Given the description of an element on the screen output the (x, y) to click on. 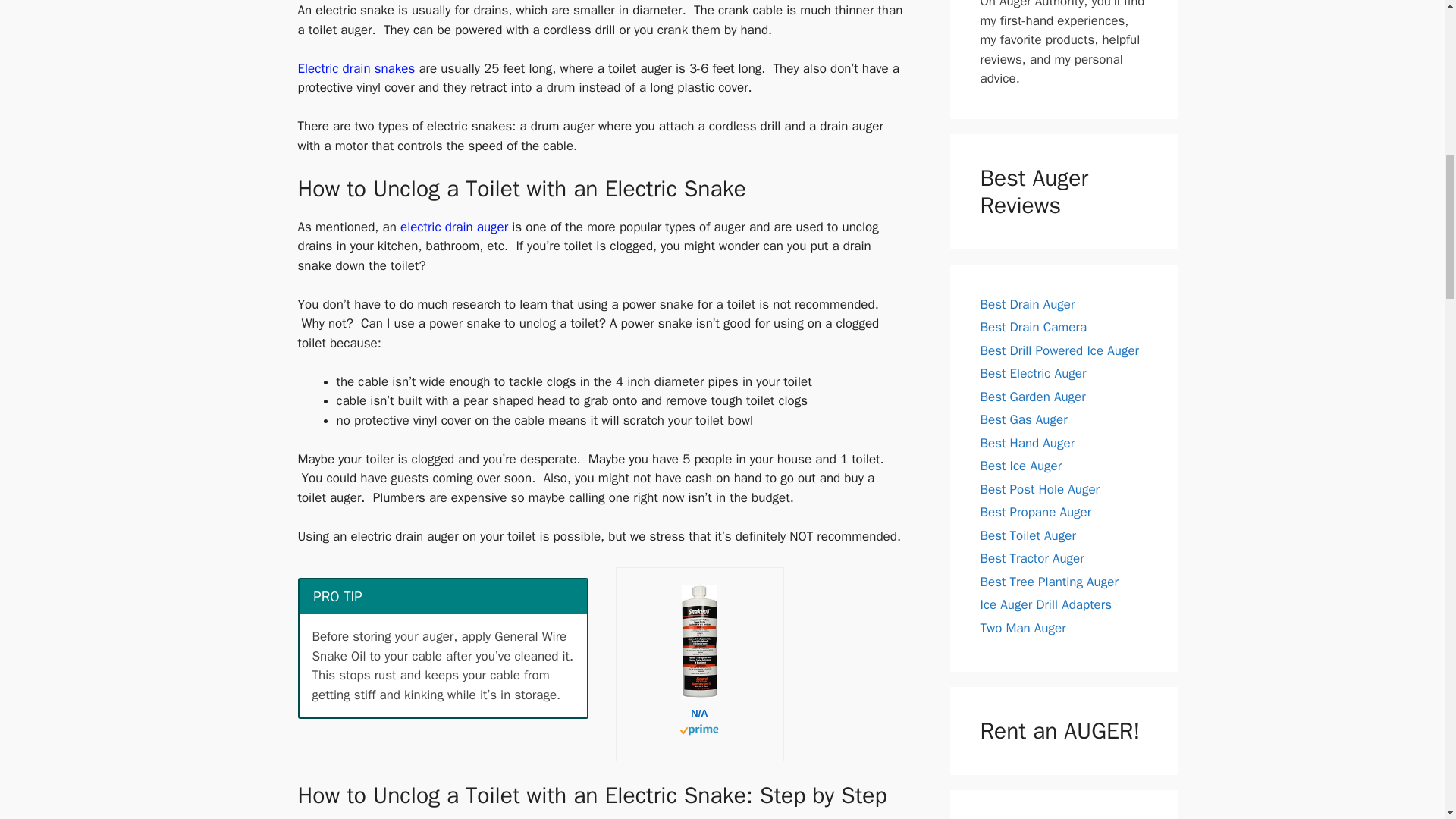
Electric drain snakes (355, 68)
Best Drain Camera (1032, 326)
Best Drill Powered Ice Auger (1058, 350)
Best Drain Auger (1026, 304)
electric drain auger (454, 227)
